Given the description of an element on the screen output the (x, y) to click on. 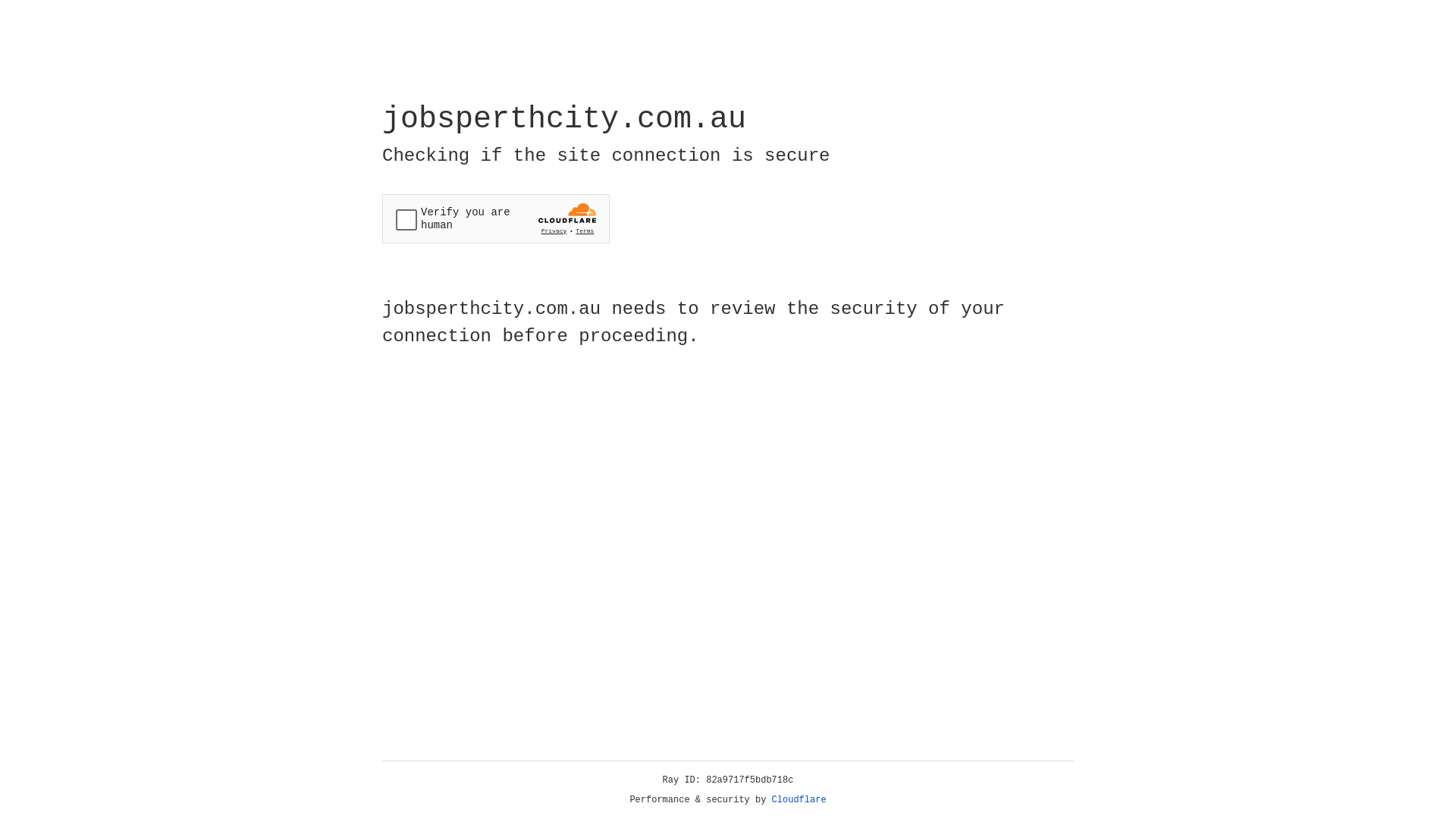
Cloudflare Element type: text (798, 799)
Widget containing a Cloudflare security challenge Element type: hover (495, 218)
